Given the description of an element on the screen output the (x, y) to click on. 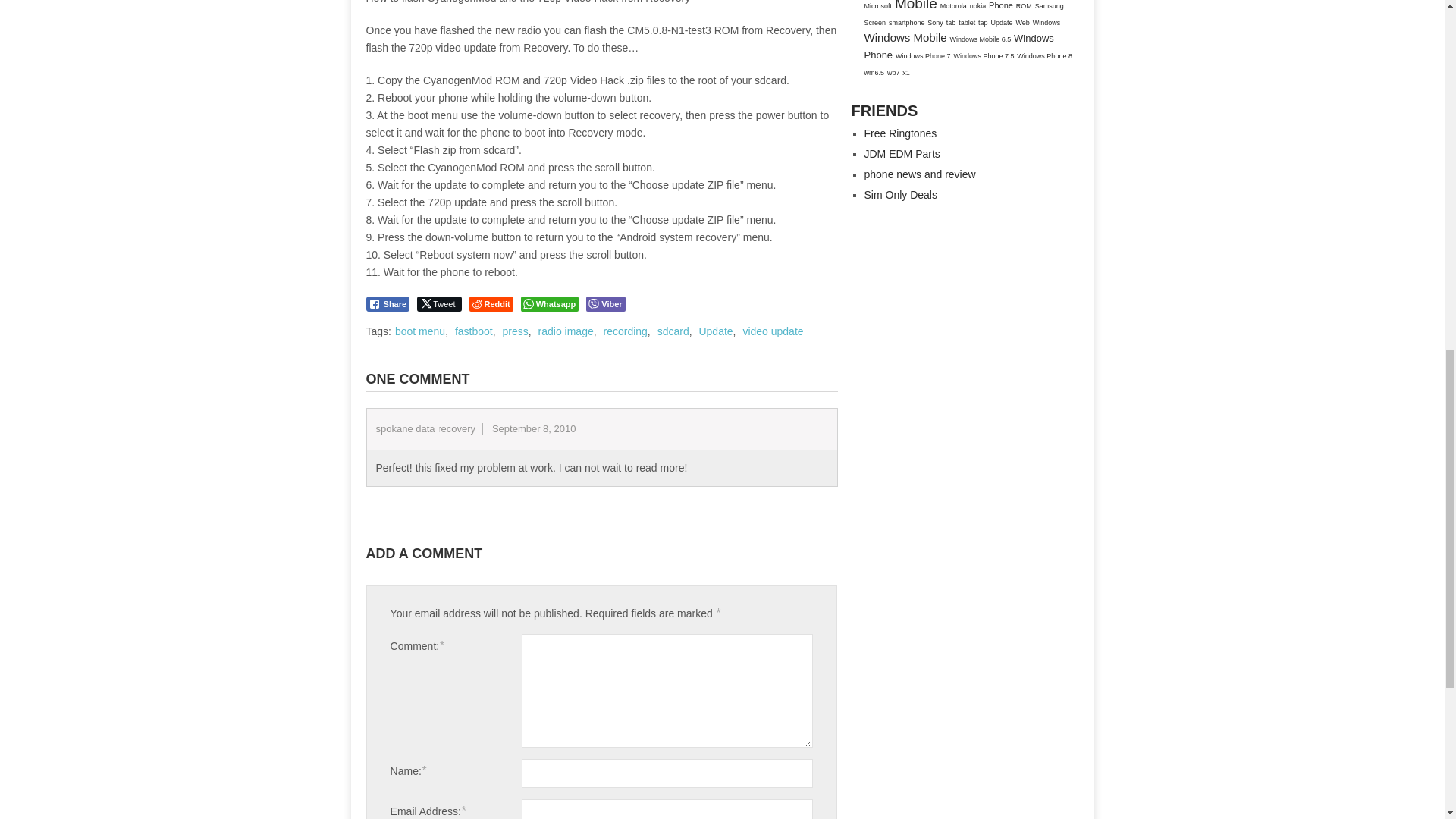
Free Ringtones (900, 133)
Sim Only Deals (900, 194)
phone news and review (919, 174)
